Given the description of an element on the screen output the (x, y) to click on. 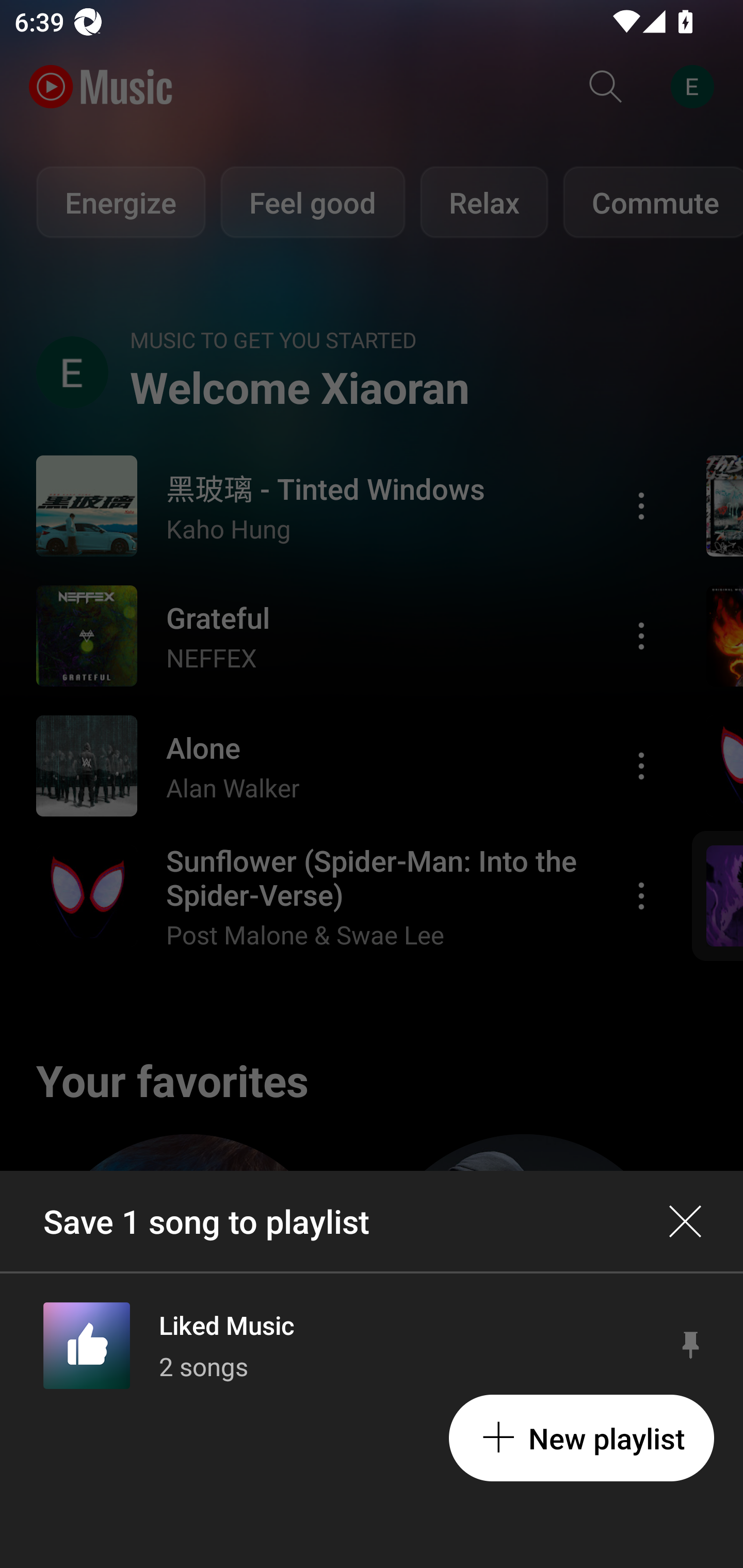
Close (685, 1221)
New playlist (581, 1437)
